Given the description of an element on the screen output the (x, y) to click on. 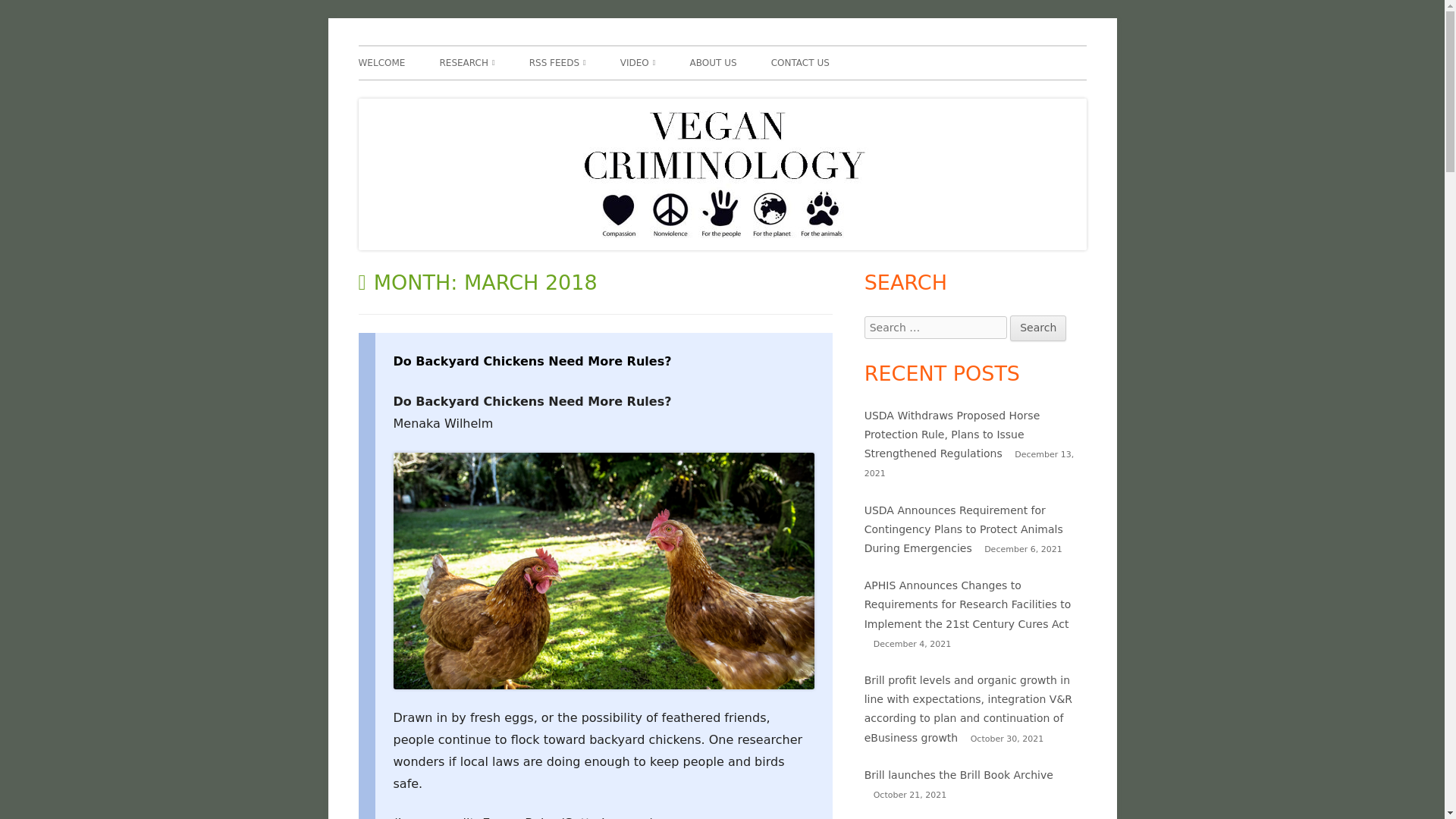
Search (1037, 328)
VIDEO (638, 62)
Vegan Criminology (450, 45)
RESEARCH (467, 62)
WELCOME (381, 62)
Search (1037, 328)
ANIMAL LAW REVIEW (616, 94)
VIDEO: FACTORY FARMS (706, 94)
RSS FEEDS (557, 62)
ASC ANIMALS IN CRIMINOLOGY 2018 (525, 94)
